Given the description of an element on the screen output the (x, y) to click on. 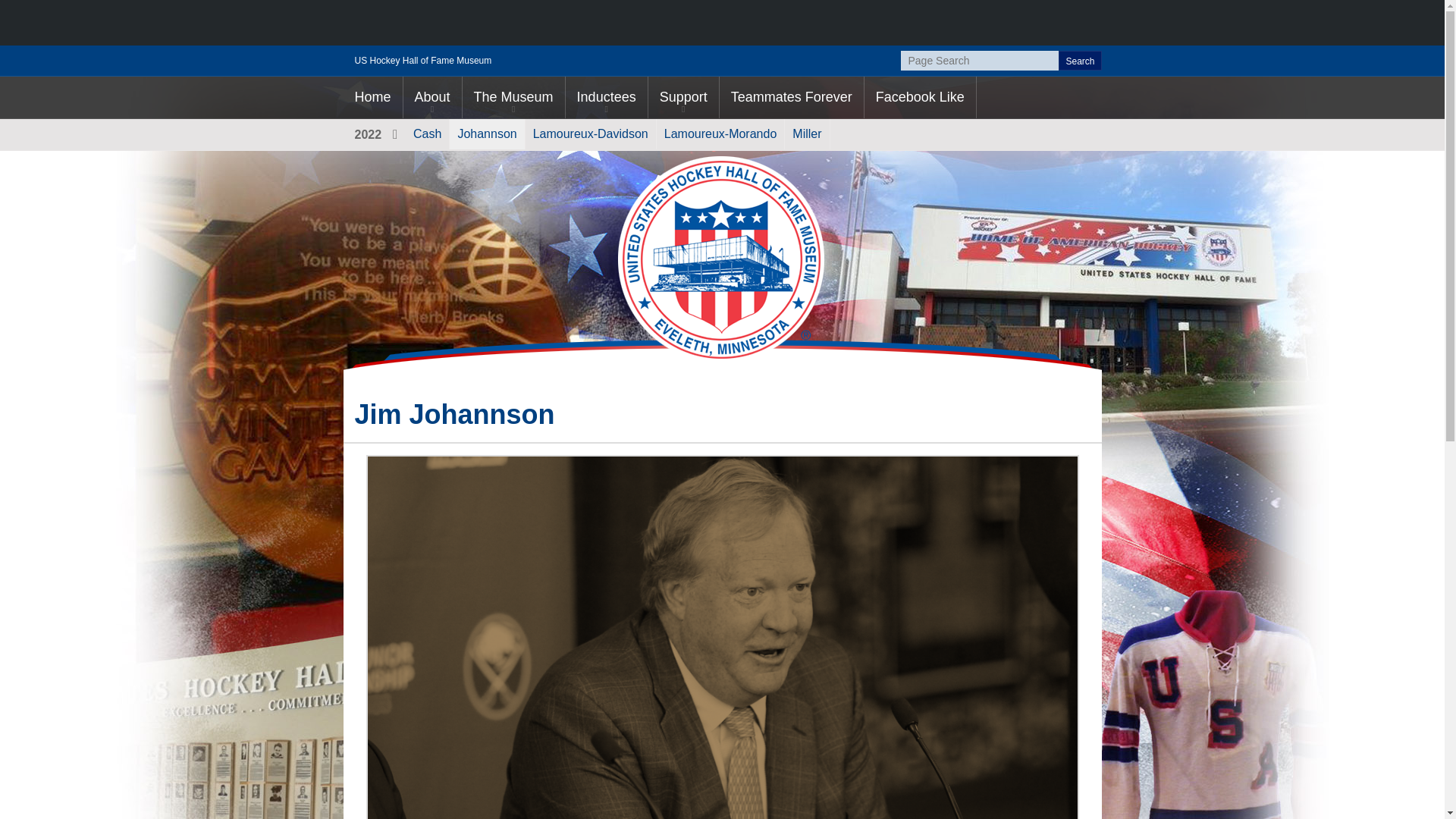
click to go to 'Monique Lamoureux-Morando' (720, 133)
Lamoureux-Morando (720, 133)
click to go to 'Inductees' (606, 96)
click to go to 'Facebook Like' (919, 96)
Johannson (486, 133)
Teammates Forever (791, 96)
click to go to 'Support' (683, 96)
Home (371, 96)
click to go to 'Jim Johannson' (486, 133)
click to go to 'The Museum' (513, 96)
Inductees (606, 96)
Cash (427, 133)
Facebook Like (919, 96)
click to go to 'Teammates Forever' (791, 96)
Support (683, 96)
